Given the description of an element on the screen output the (x, y) to click on. 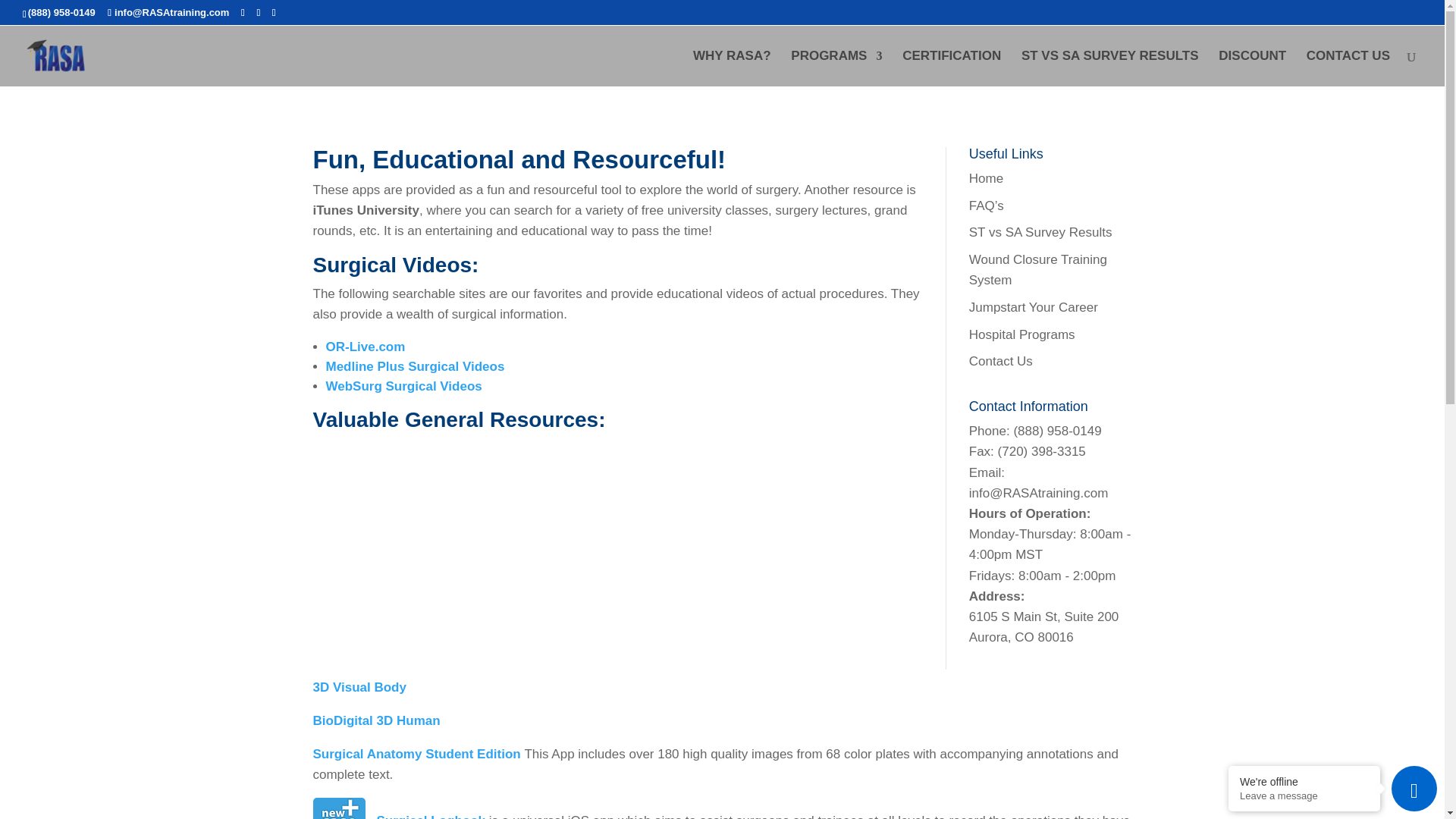
Procedure Log (429, 816)
OR-Live.com (366, 346)
Wound Closure Training System (1037, 269)
PROGRAMS (836, 67)
WebSurg Surgical Videos (403, 386)
Procedure Log (339, 808)
ST VS SA SURVEY RESULTS (1110, 67)
Home (986, 178)
WHY RASA? (732, 67)
Hospital Programs (1022, 334)
Surgical Anatomy (416, 753)
CERTIFICATION (951, 67)
DISCOUNT (1251, 67)
Medline Plus Surgical Videos (415, 366)
ST vs SA Survey Results (1040, 232)
